Given the description of an element on the screen output the (x, y) to click on. 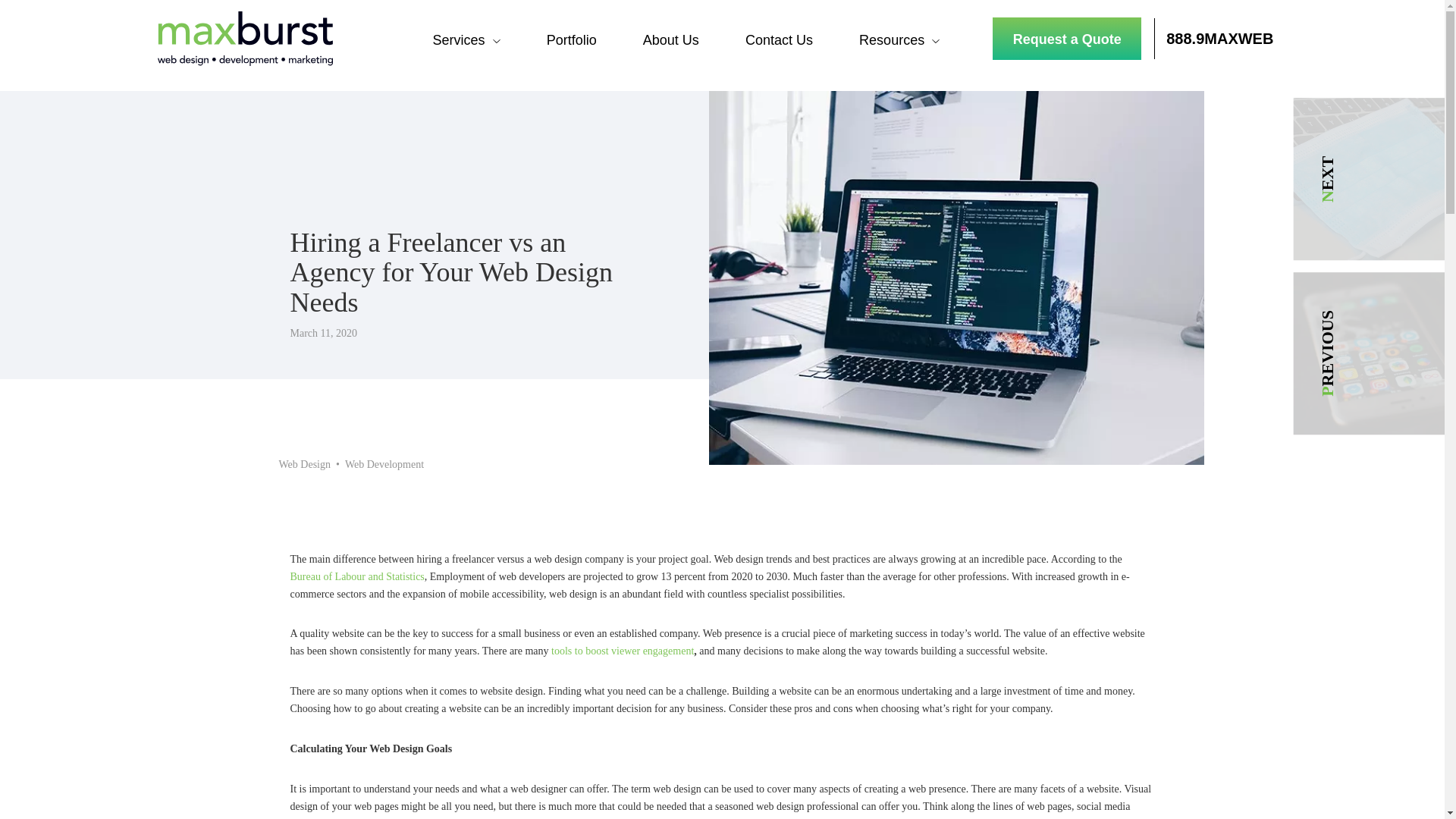
Resources (891, 39)
888.9MAXWEB (1219, 38)
Services (458, 39)
About Us (670, 39)
tools to boost viewer engagement (622, 650)
Contact Us (778, 39)
PREVIOUS (1363, 358)
NEXT (1363, 185)
Web Design (312, 464)
Bureau of Labour and Statistics (356, 576)
